Given the description of an element on the screen output the (x, y) to click on. 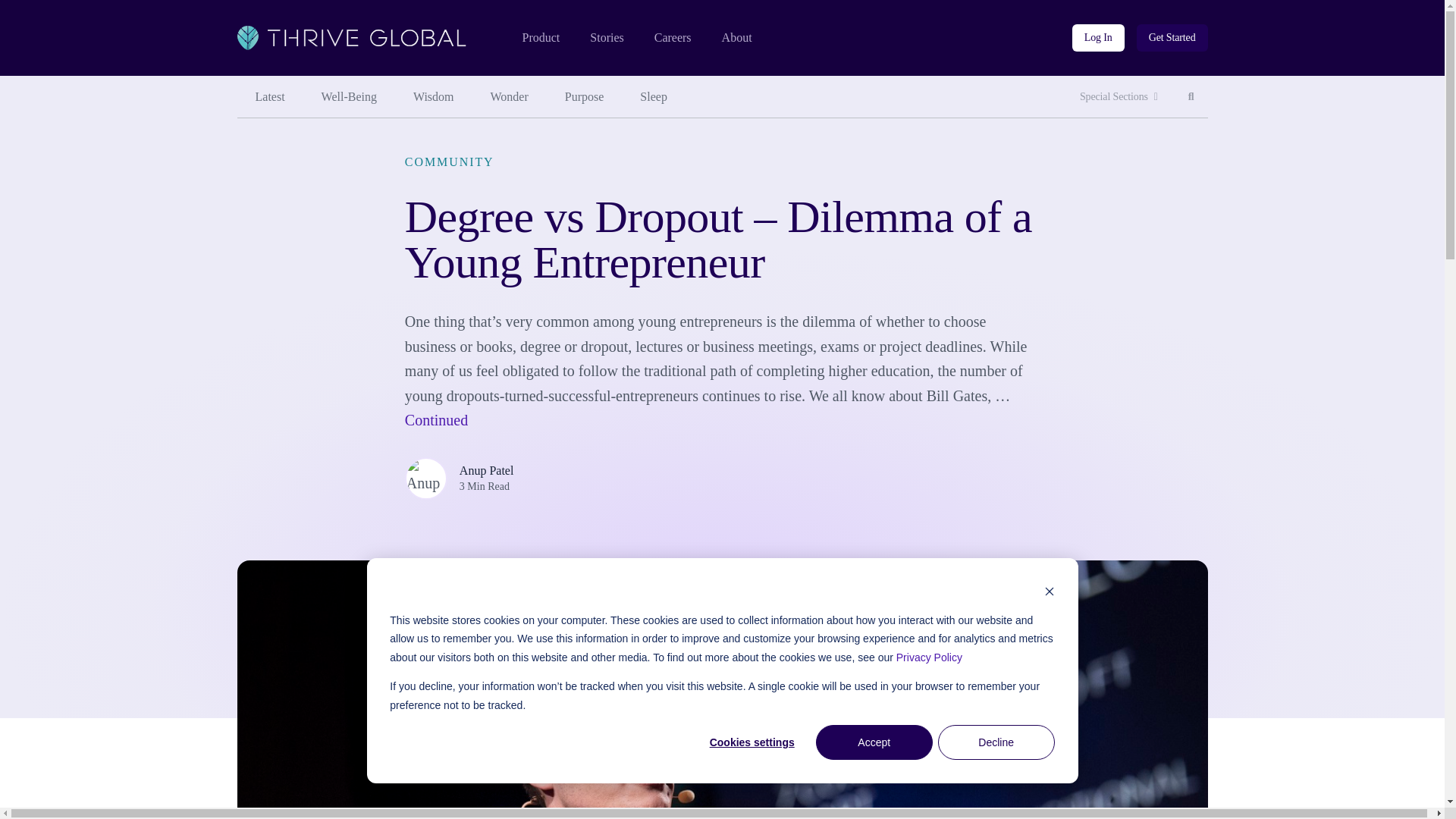
Purpose (585, 96)
Wonder (509, 96)
Careers (672, 37)
Well-Being (348, 96)
Latest (1191, 97)
Log In (268, 96)
Stories (1097, 37)
Special Sections (606, 37)
Sleep (1118, 97)
Wisdom (653, 96)
Product (432, 96)
Get Started (540, 37)
About (1172, 37)
